Given the description of an element on the screen output the (x, y) to click on. 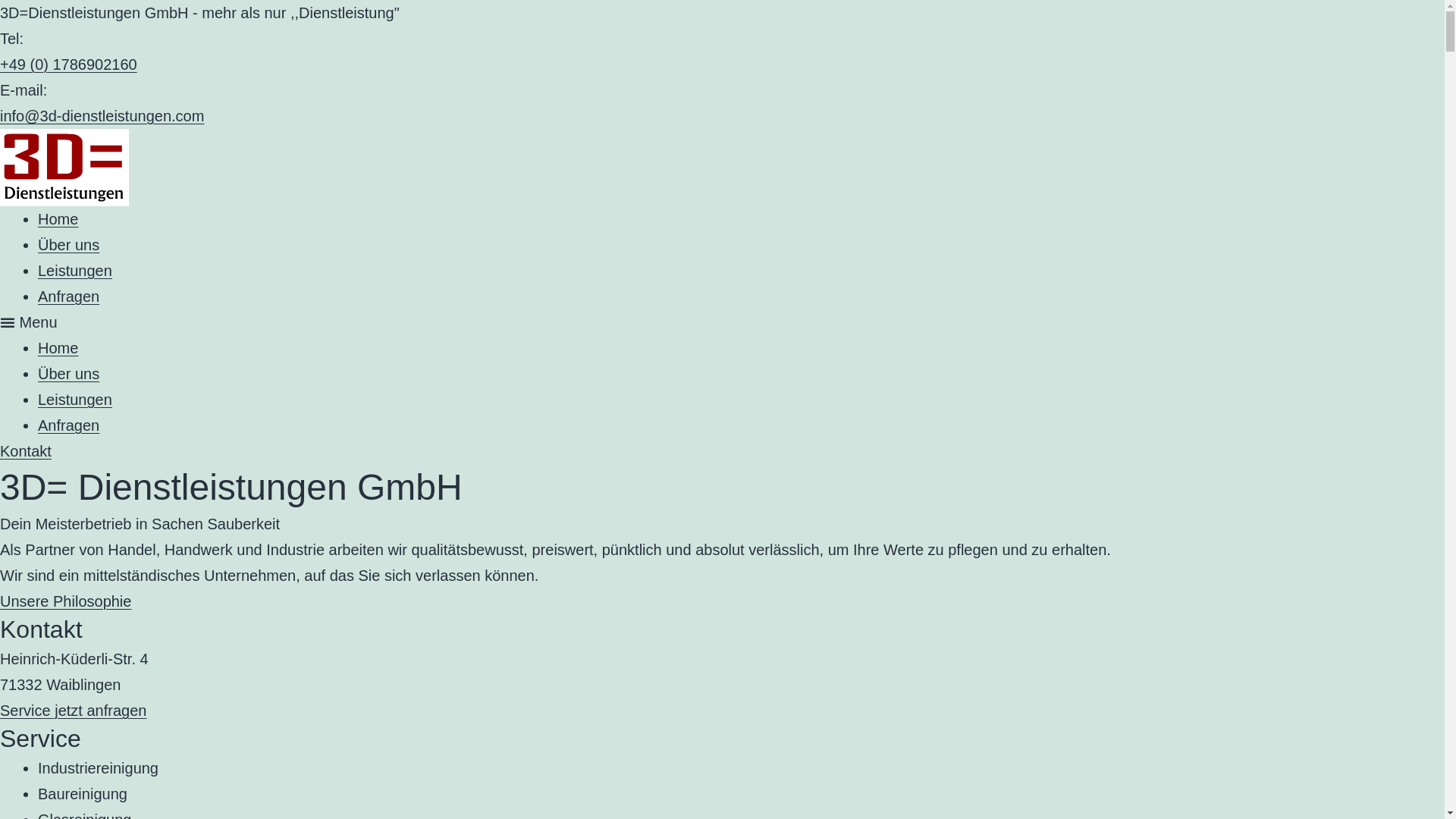
Leistungen Element type: text (74, 270)
Kontakt Element type: text (25, 450)
Service jetzt anfragen Element type: text (73, 710)
Home Element type: text (57, 218)
Anfragen Element type: text (68, 425)
info@3d-dienstleistungen.com Element type: text (101, 115)
Unsere Philosophie Element type: text (65, 601)
+49 (0) 1786902160 Element type: text (68, 64)
Home Element type: text (57, 347)
Anfragen Element type: text (68, 296)
Leistungen Element type: text (74, 399)
